Given the description of an element on the screen output the (x, y) to click on. 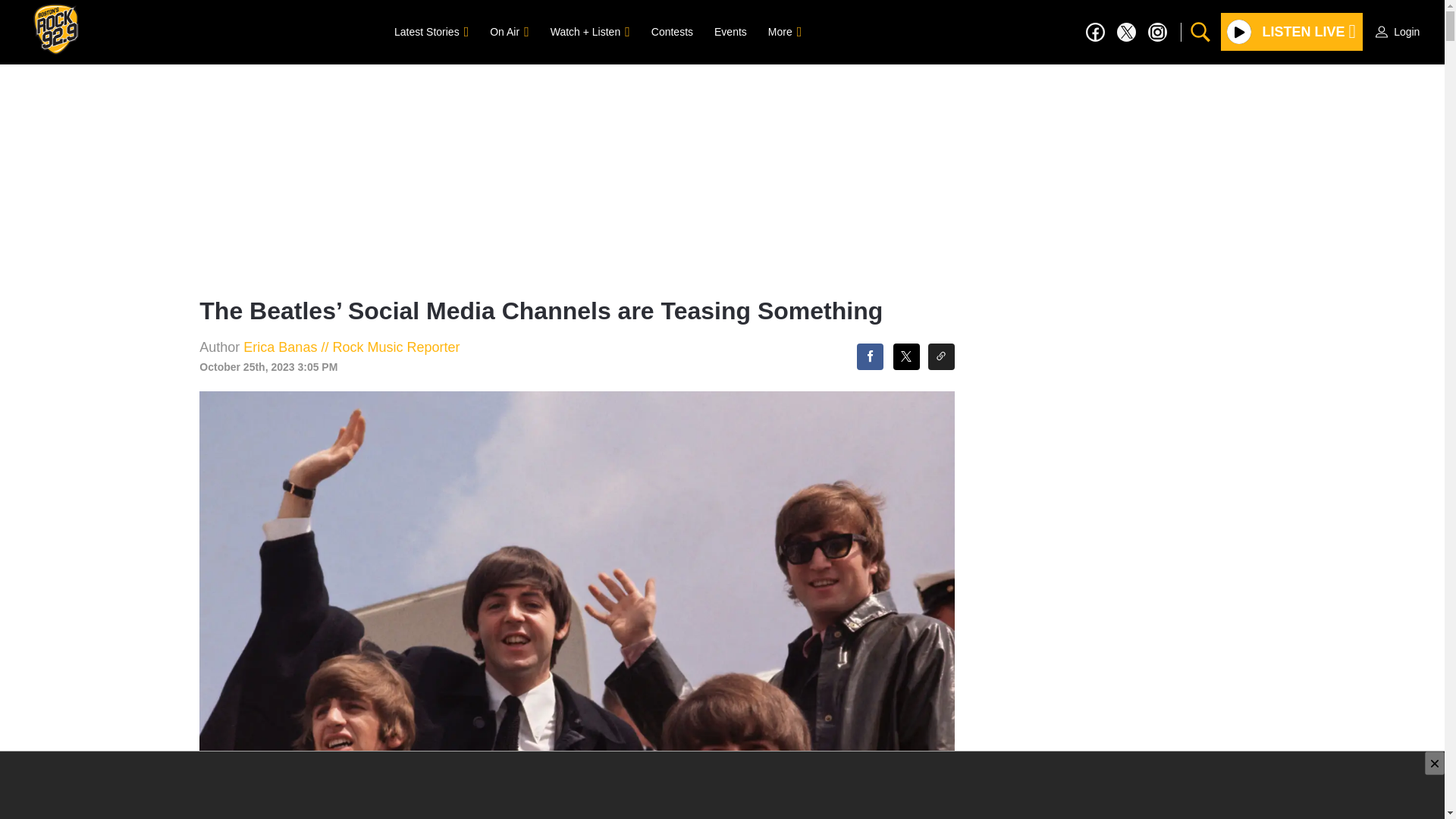
Latest Stories (431, 31)
Contests (671, 31)
On Air (508, 31)
Events (730, 31)
More (784, 31)
